Given the description of an element on the screen output the (x, y) to click on. 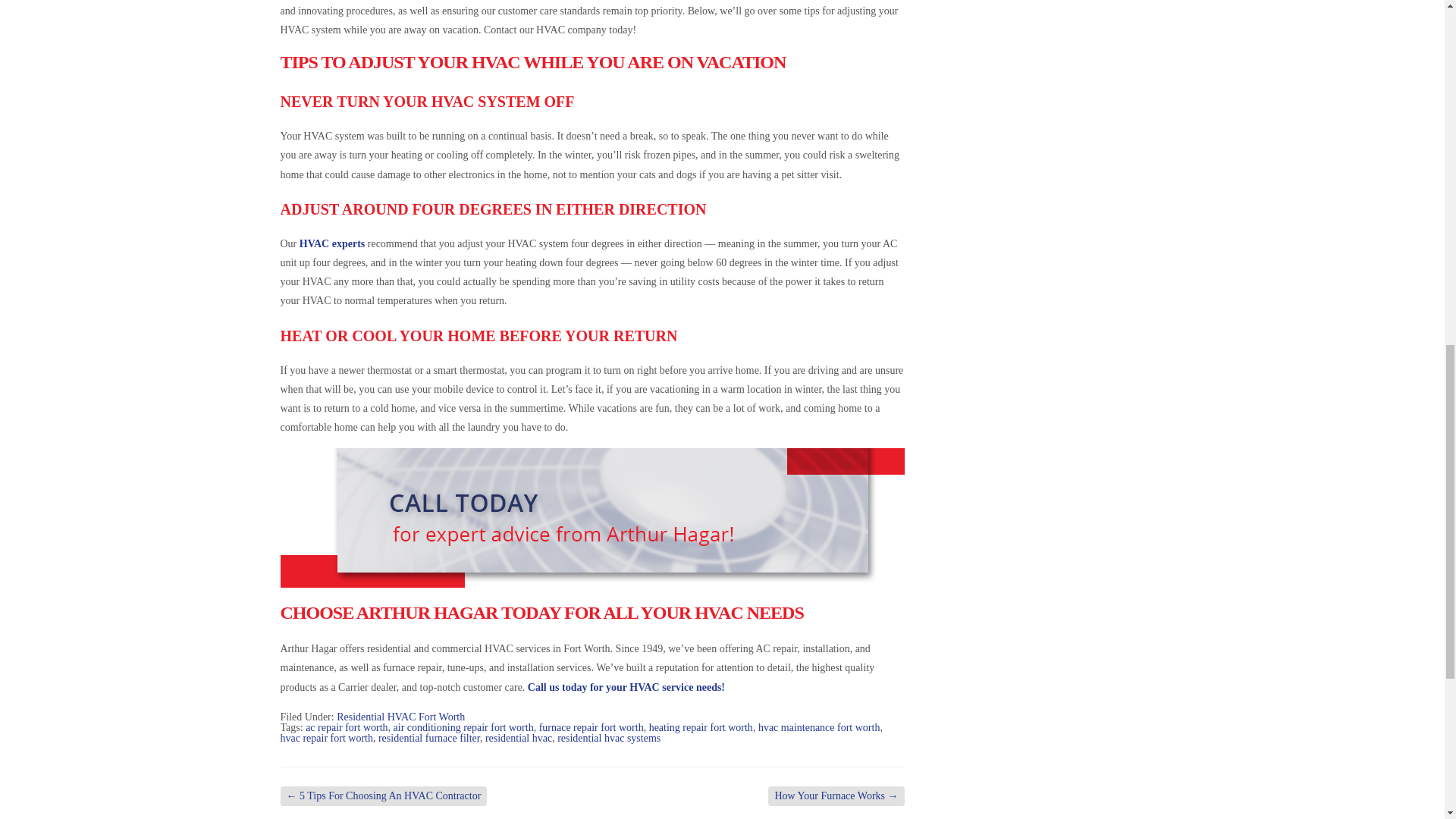
ac repair fort worth (346, 727)
air conditioning repair fort worth (463, 727)
residential furnace filter (429, 737)
residential hvac systems (609, 737)
Call us today for your HVAC service needs! (626, 686)
hvac maintenance fort worth (819, 727)
HVAC experts (332, 243)
Residential HVAC Fort Worth (400, 716)
furnace repair fort worth (590, 727)
hvac repair fort worth (326, 737)
